Given the description of an element on the screen output the (x, y) to click on. 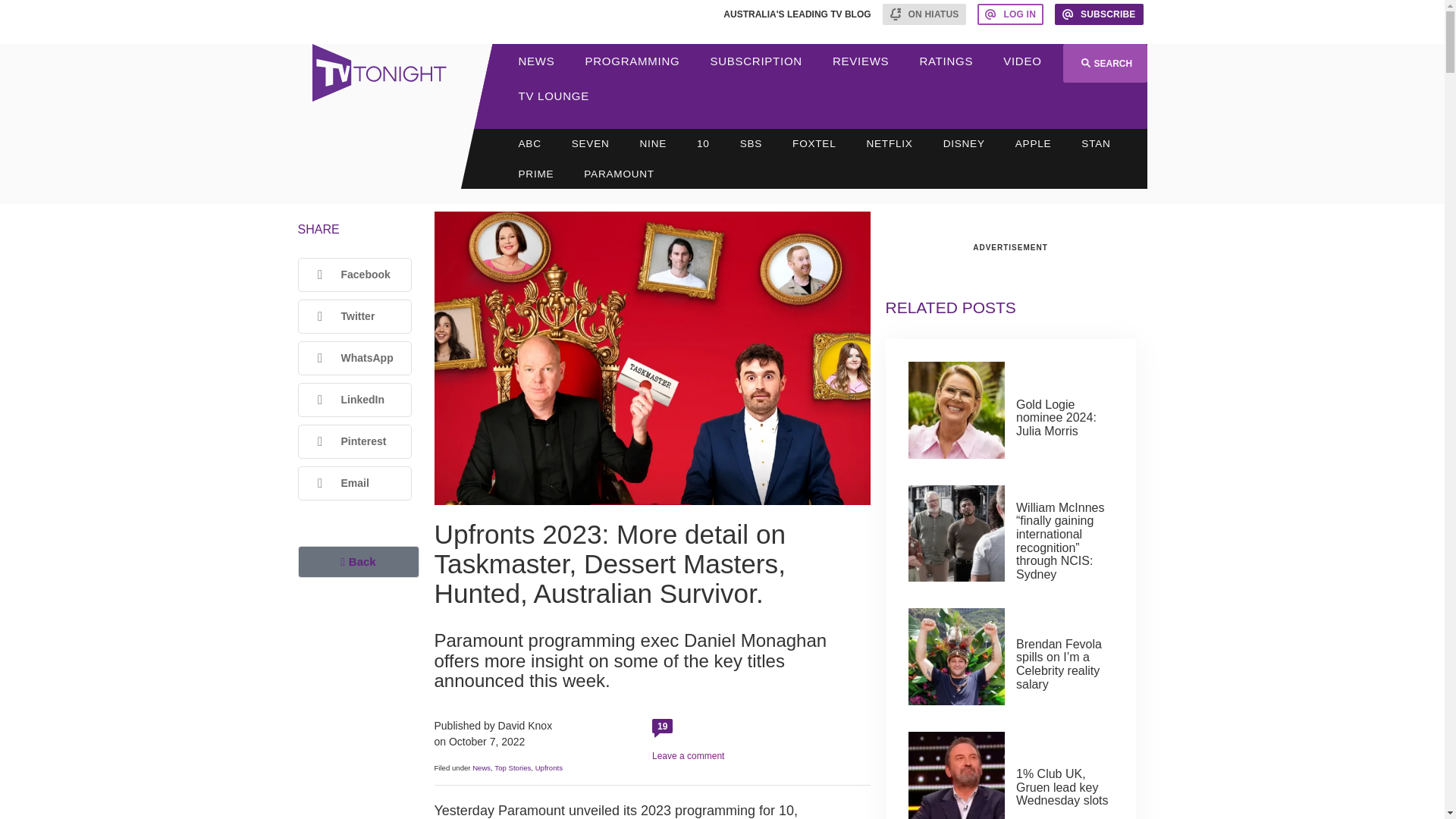
PROGRAMMING (632, 61)
SUBSCRIPTION (755, 61)
VIDEO (1022, 61)
NEWS (536, 61)
REVIEWS (860, 61)
RATINGS (946, 61)
SEARCH (1104, 63)
ON HIATUS (924, 14)
SUBSCRIBE (1098, 14)
ABC (529, 143)
LOG IN (1010, 14)
TV LOUNGE (553, 95)
